Given the description of an element on the screen output the (x, y) to click on. 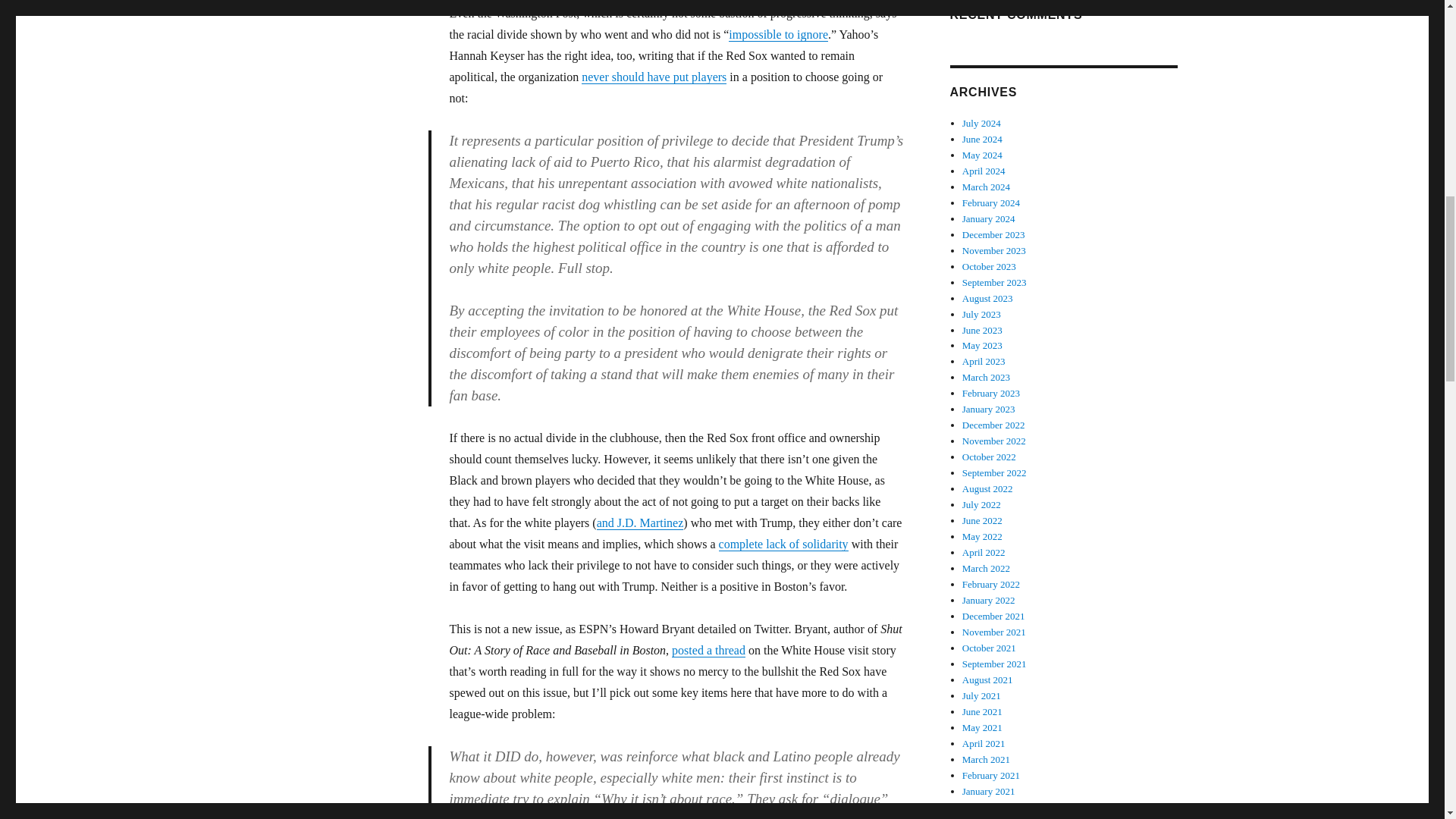
never should have put players (653, 76)
posted a thread (708, 649)
complete lack of solidarity (783, 543)
June 2024 (982, 138)
April 2024 (984, 170)
May 2024 (982, 154)
impossible to ignore (778, 33)
March 2024 (986, 186)
and J.D. Martinez (640, 522)
July 2024 (981, 122)
February 2024 (991, 202)
January 2024 (988, 218)
